Given the description of an element on the screen output the (x, y) to click on. 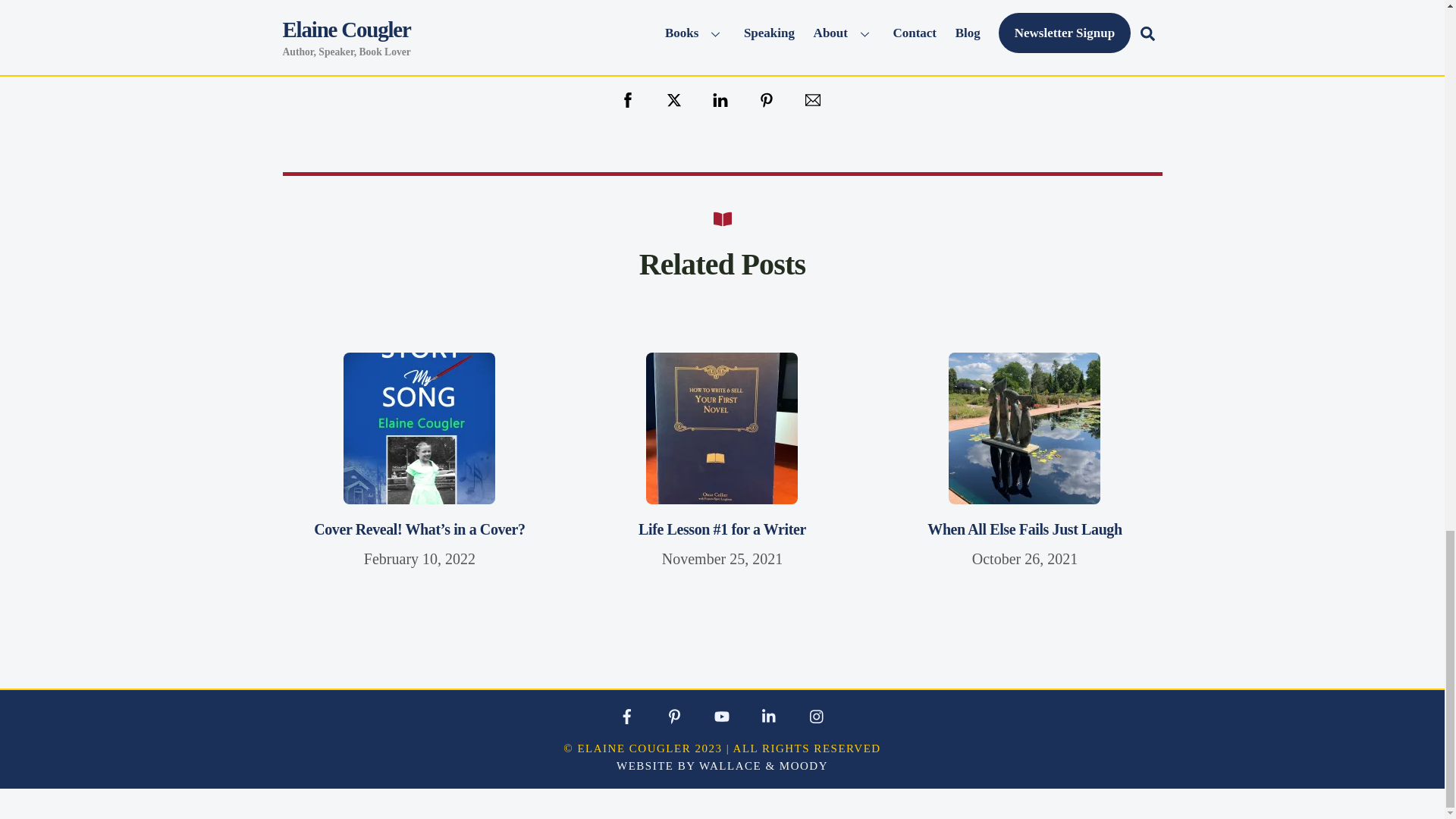
When All Else Fails Just Laugh (1024, 528)
Icon label (817, 716)
My Story, My Song Rough Ebook Cover 5 (419, 428)
Icon label (769, 716)
Icon label (626, 716)
Icon label (721, 716)
